Given the description of an element on the screen output the (x, y) to click on. 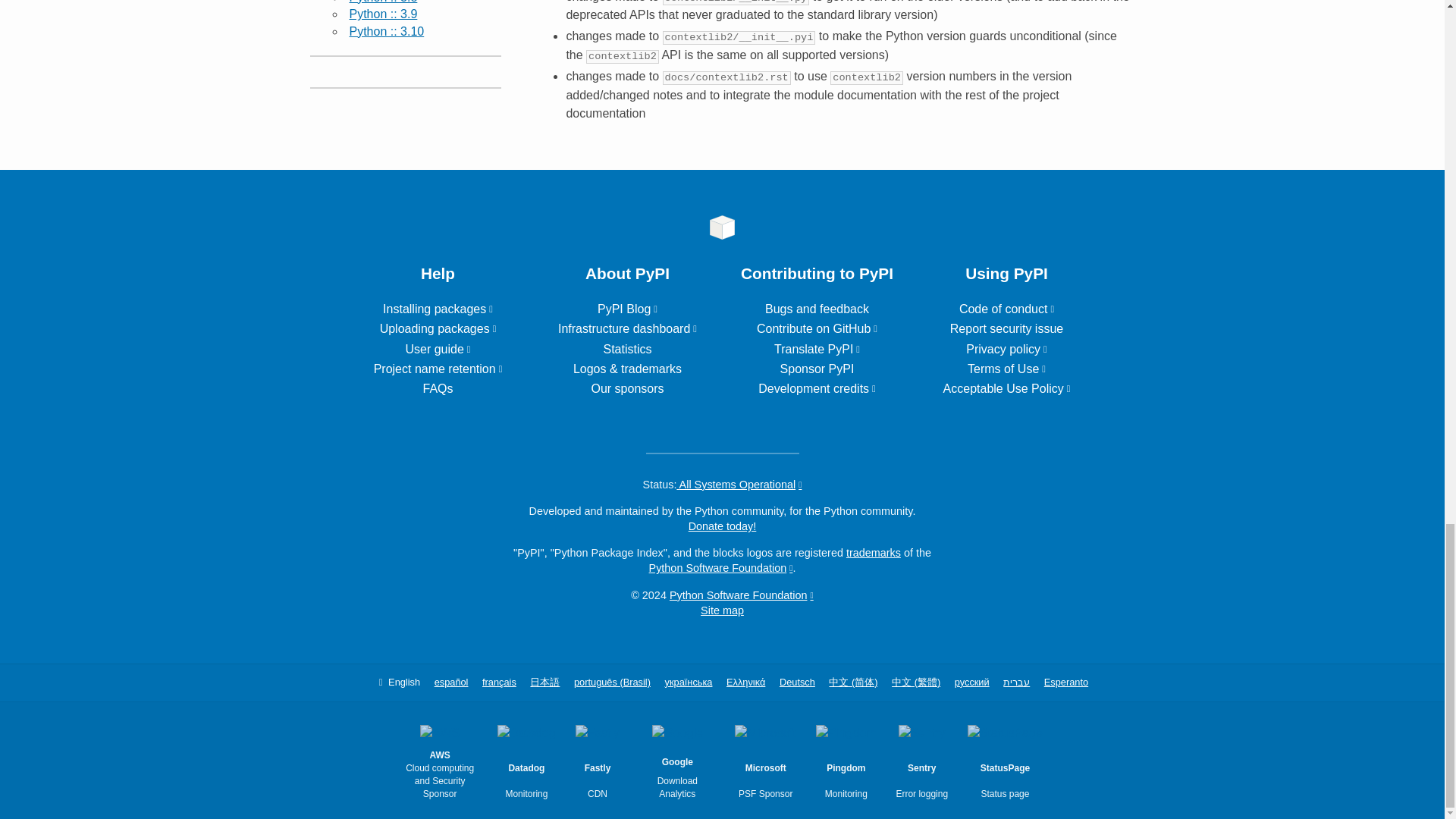
Python :: 3.8 (382, 2)
Python :: 3.9 (382, 13)
Python :: 3.10 (386, 31)
